Given the description of an element on the screen output the (x, y) to click on. 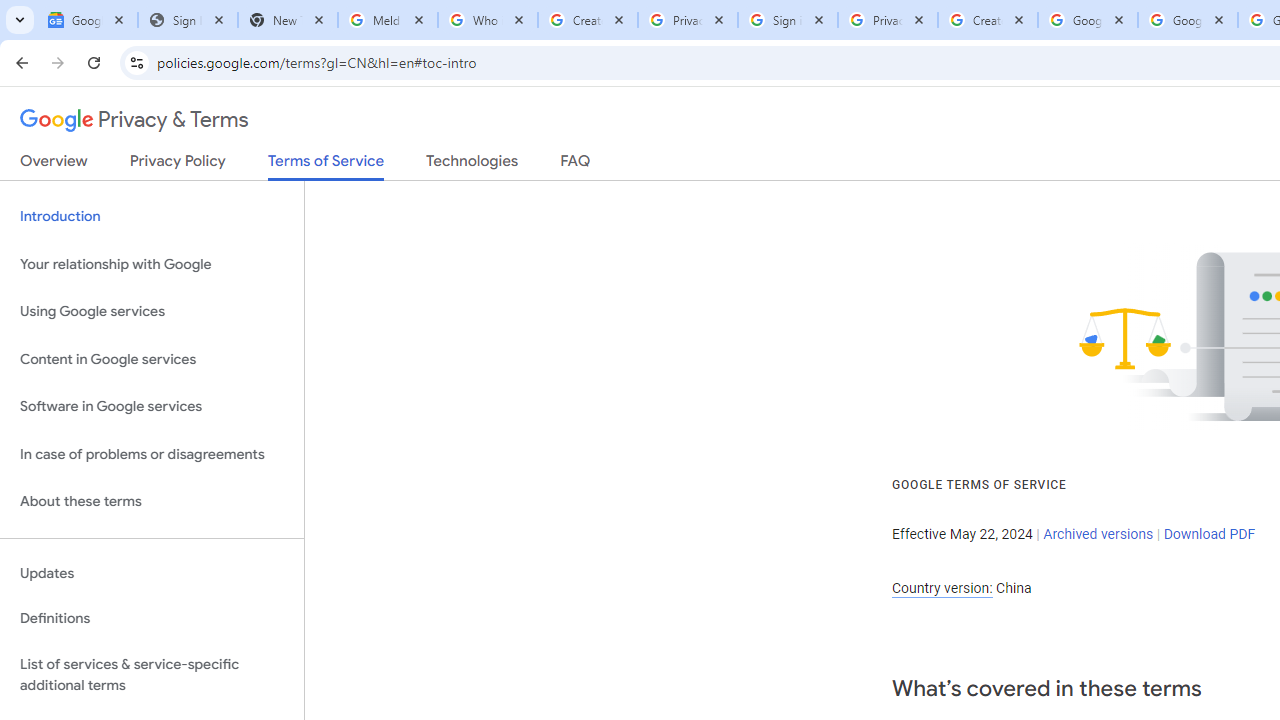
Country version: (942, 588)
Software in Google services (152, 407)
Create your Google Account (587, 20)
Google News (87, 20)
